Given the description of an element on the screen output the (x, y) to click on. 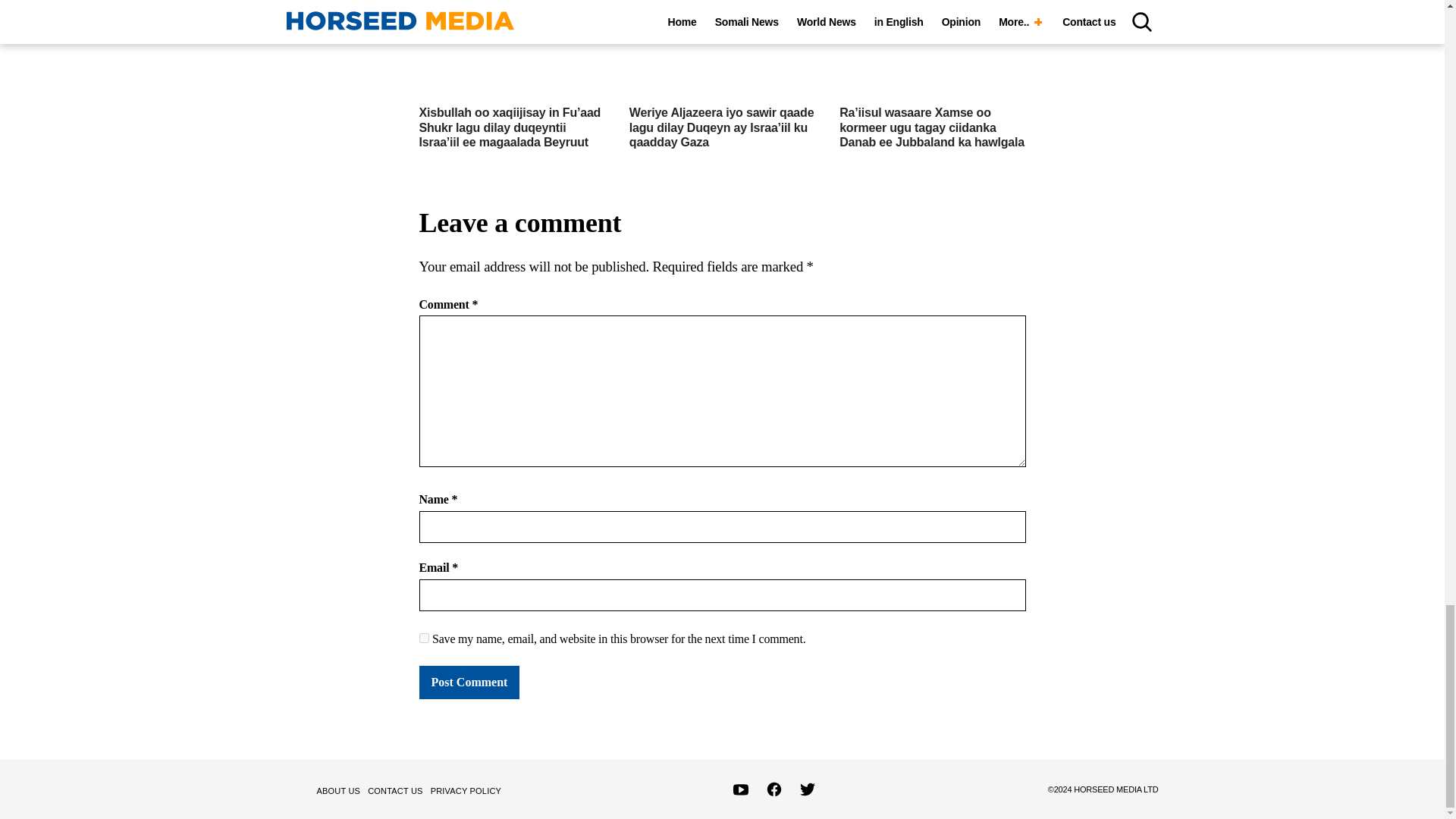
Post Comment (469, 682)
yes (423, 637)
